Given the description of an element on the screen output the (x, y) to click on. 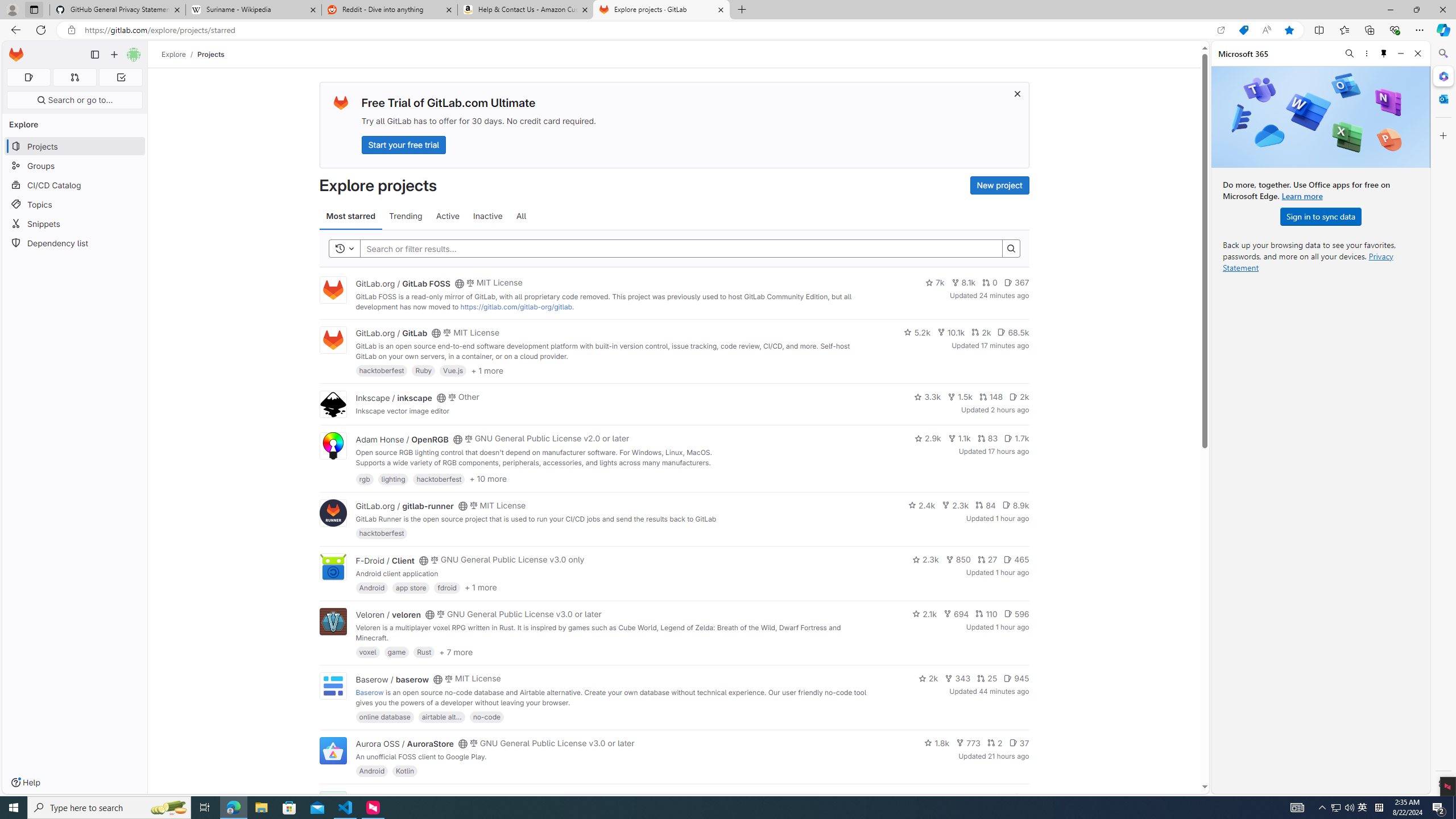
Kotlin (405, 770)
Topics (74, 203)
465 (1016, 559)
Class: s16 (457, 798)
+ 10 more (488, 478)
F (332, 805)
8.1k (962, 282)
Primary navigation sidebar (94, 54)
143 (974, 797)
Aurora OSS / AuroraStore (404, 743)
